Given the description of an element on the screen output the (x, y) to click on. 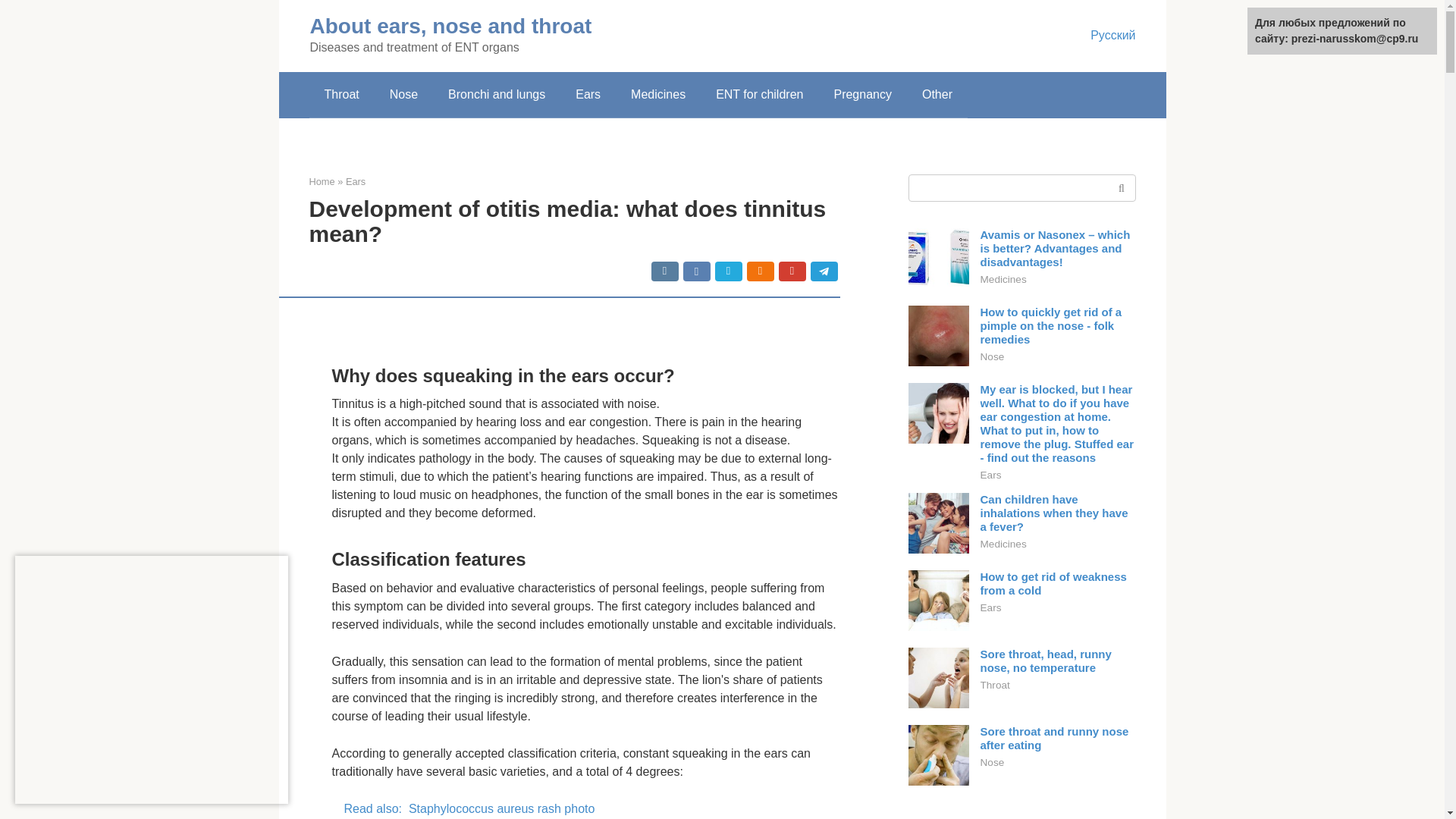
Bronchi and lungs (496, 94)
Ears (587, 94)
Ears (355, 181)
Other (937, 94)
ENT for children (759, 94)
Throat (341, 94)
Read also:  Staphylococcus aureus rash photo (585, 809)
Pregnancy (862, 94)
Home (321, 181)
Nose (403, 94)
Medicines (657, 94)
About ears, nose and throat (449, 25)
